Given the description of an element on the screen output the (x, y) to click on. 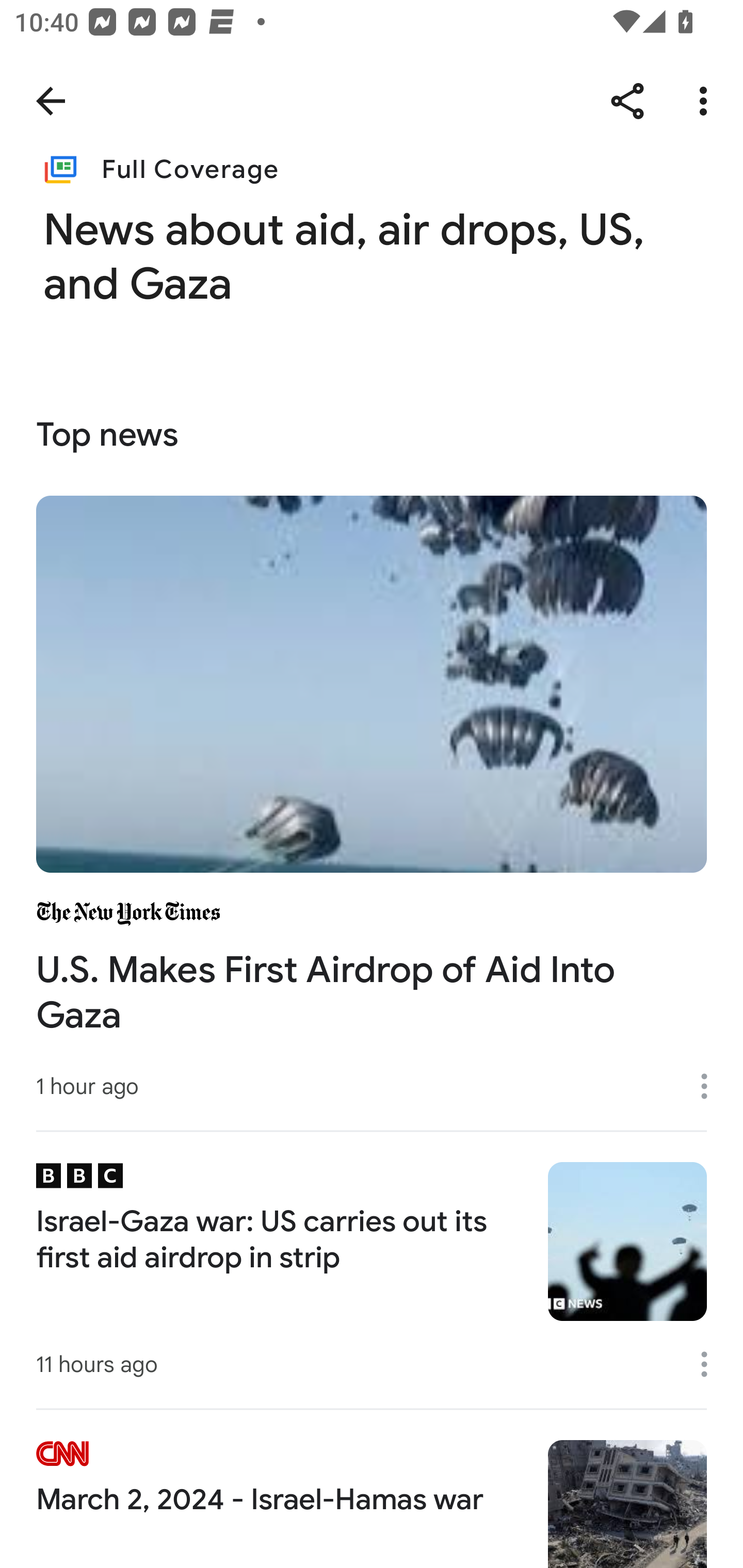
Navigate up (50, 101)
Share (626, 101)
More options (706, 101)
More options (711, 1085)
More options (711, 1364)
CNN March 2, 2024 - Israel-Hamas war (371, 1488)
